Given the description of an element on the screen output the (x, y) to click on. 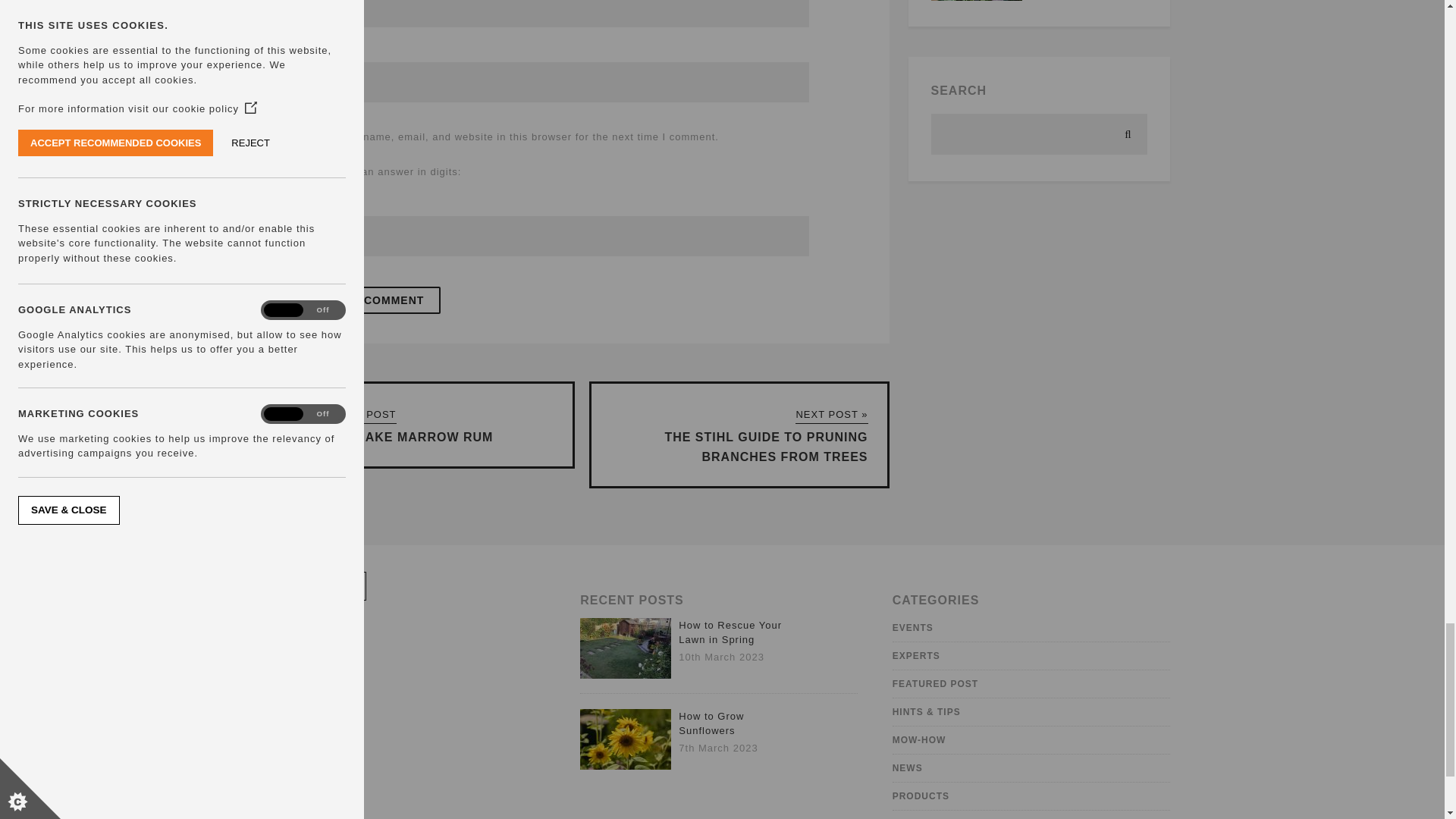
Leave a Comment (367, 299)
yes (299, 137)
